Given the description of an element on the screen output the (x, y) to click on. 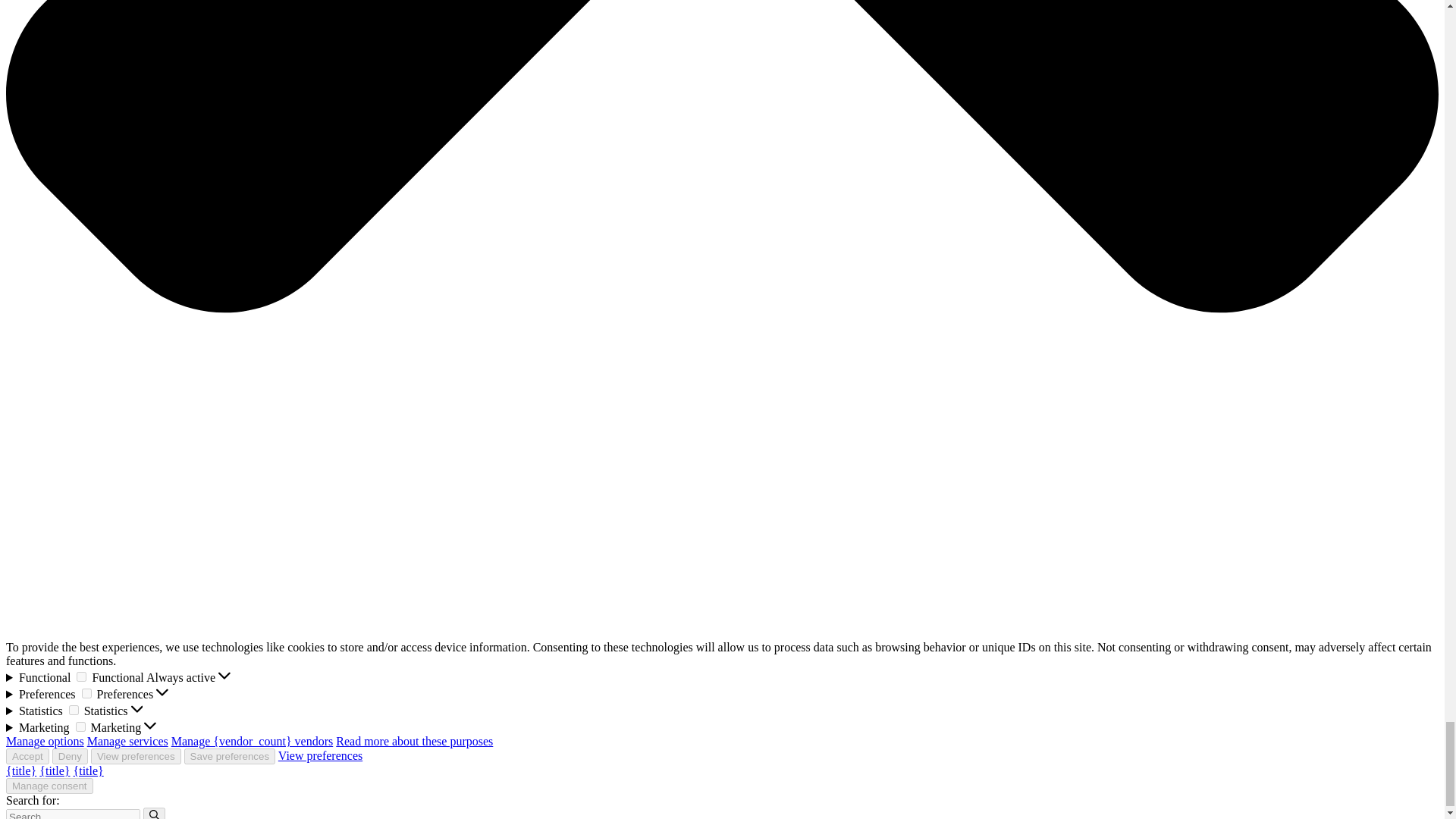
1 (80, 726)
1 (86, 693)
1 (73, 709)
1 (81, 676)
